Given the description of an element on the screen output the (x, y) to click on. 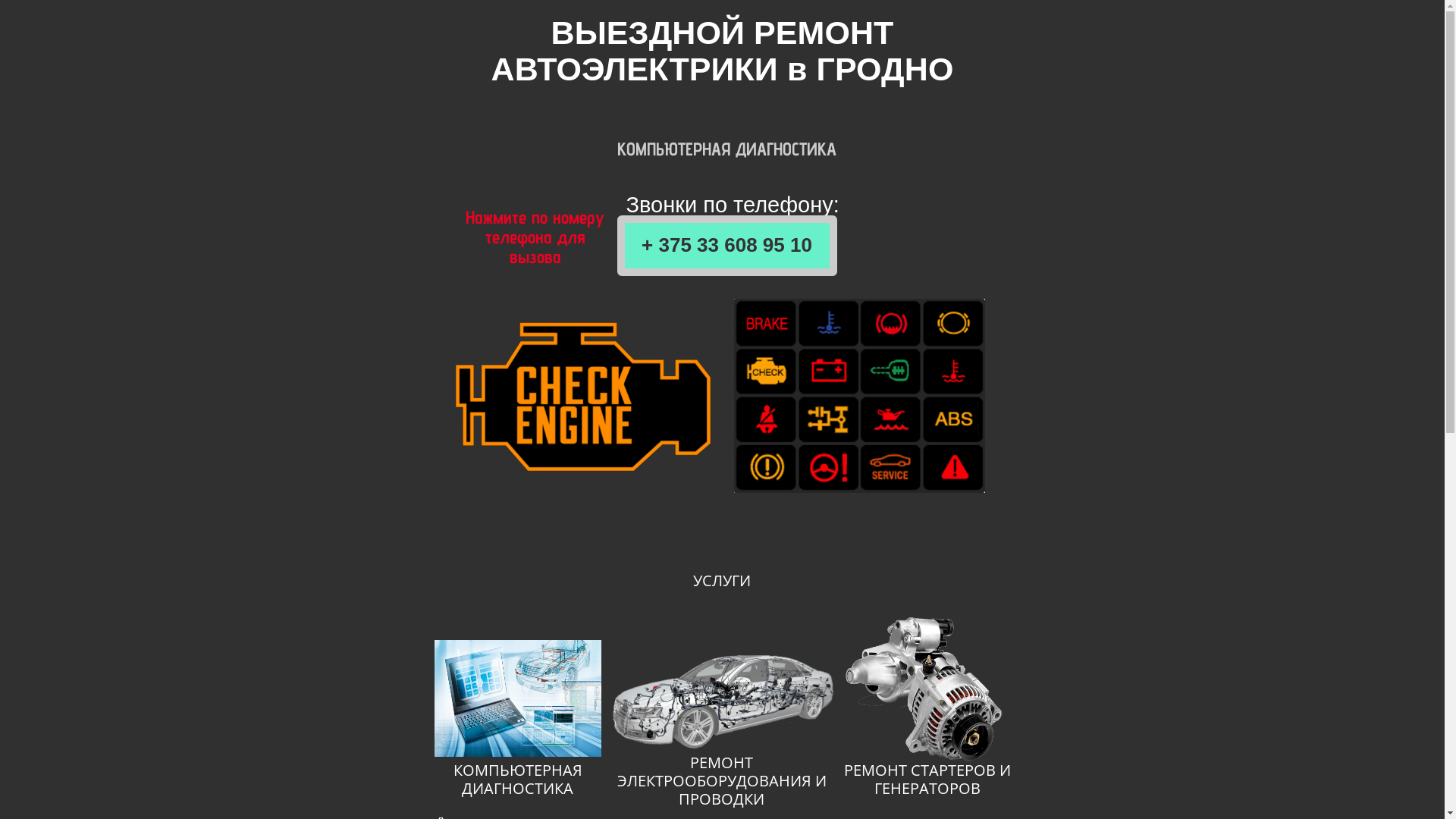
+ 375 33 608 95 10 Element type: text (727, 245)
